Given the description of an element on the screen output the (x, y) to click on. 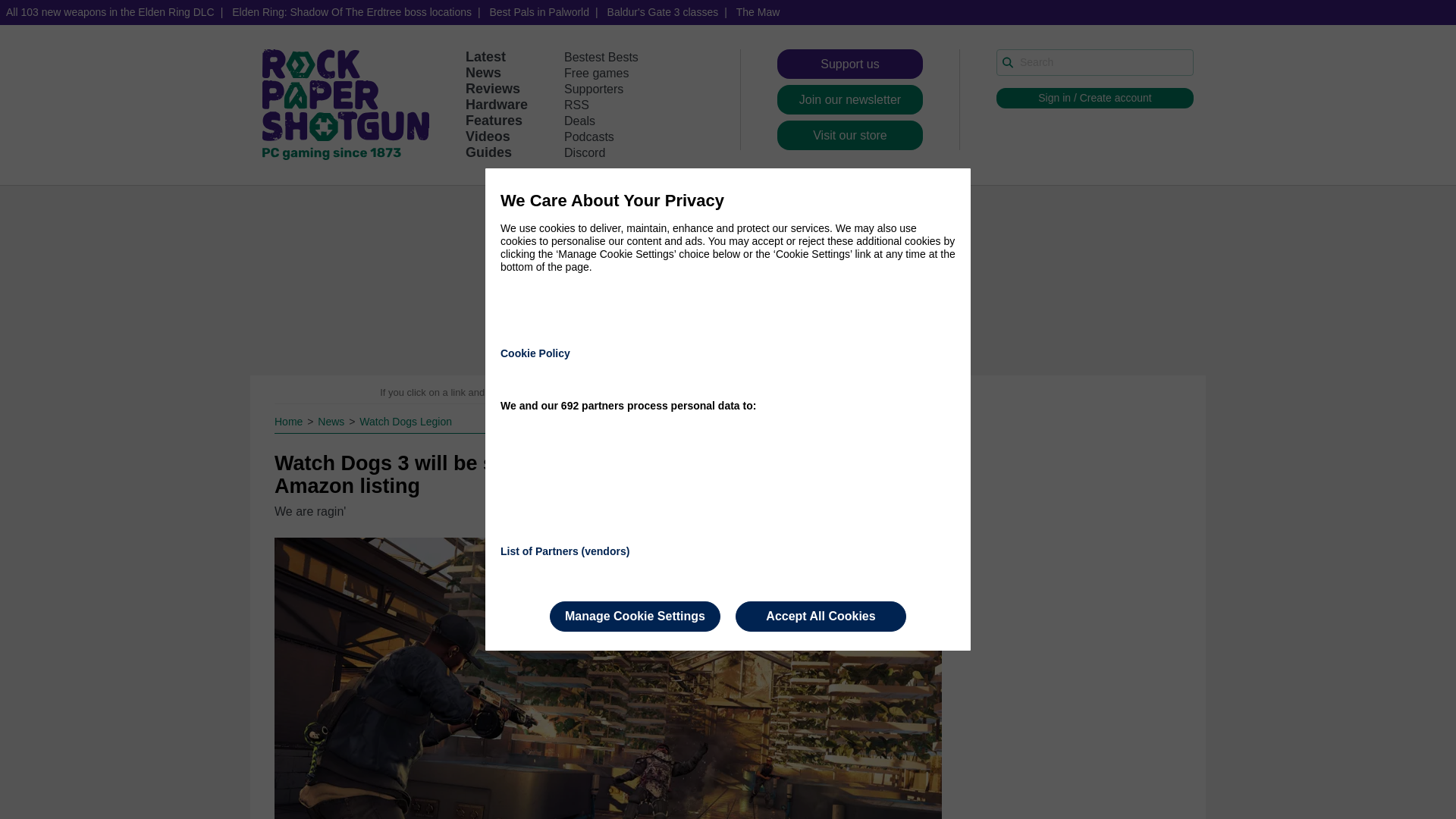
RSS (576, 104)
Supporters (593, 88)
Best Pals in Palworld (539, 12)
All 103 new weapons in the Elden Ring DLC (110, 12)
Join our newsletter (850, 99)
News (332, 421)
Elden Ring: Shadow Of The Erdtree boss locations (351, 12)
Videos (488, 136)
Latest (485, 56)
RSS (576, 104)
Watch Dogs Legion (405, 421)
Videos (488, 136)
Supporters (593, 88)
Features (493, 120)
Free games (596, 72)
